Given the description of an element on the screen output the (x, y) to click on. 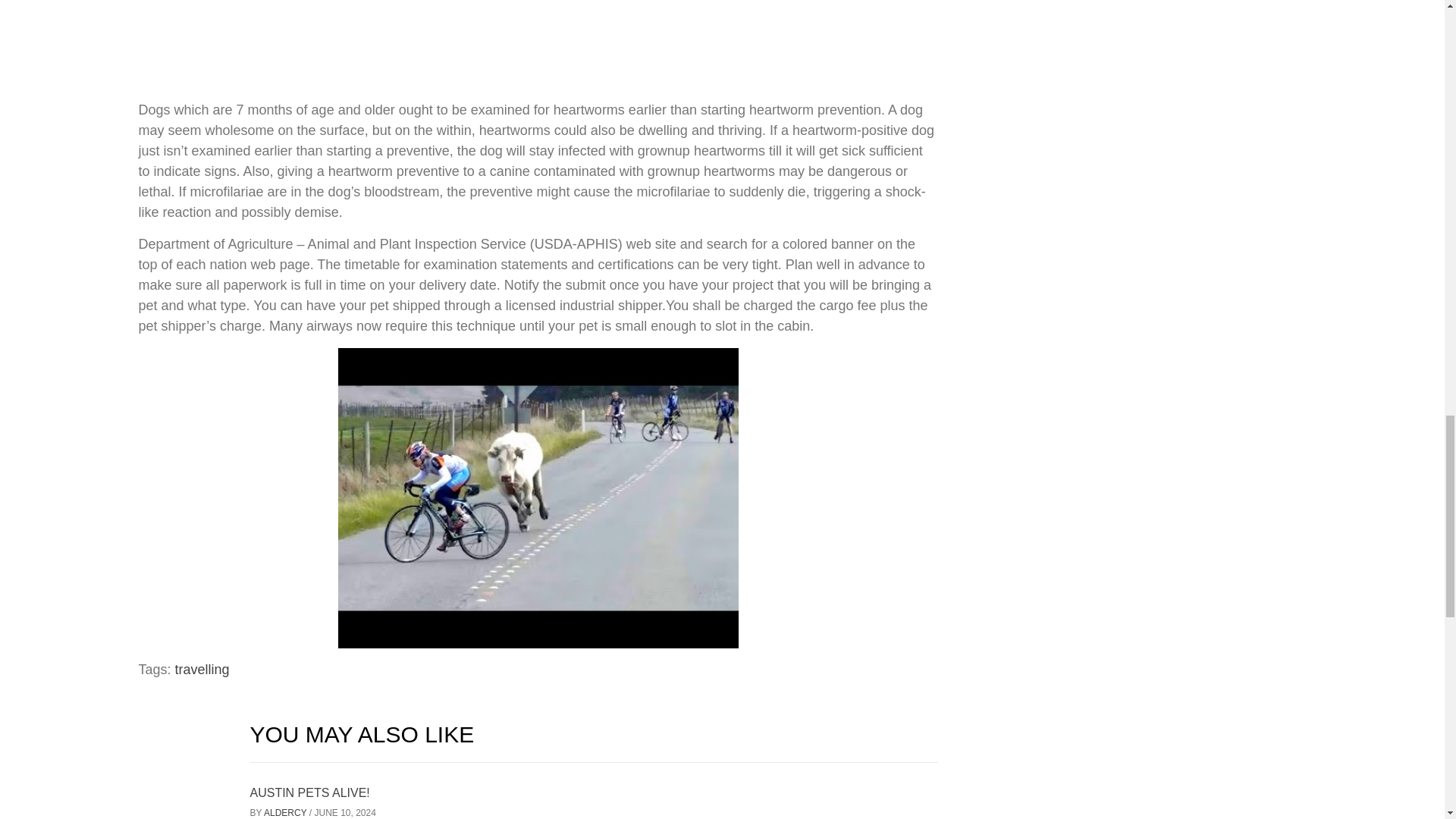
ALDERCY (285, 812)
travelling (202, 669)
AUSTIN PETS ALIVE! (309, 792)
